Given the description of an element on the screen output the (x, y) to click on. 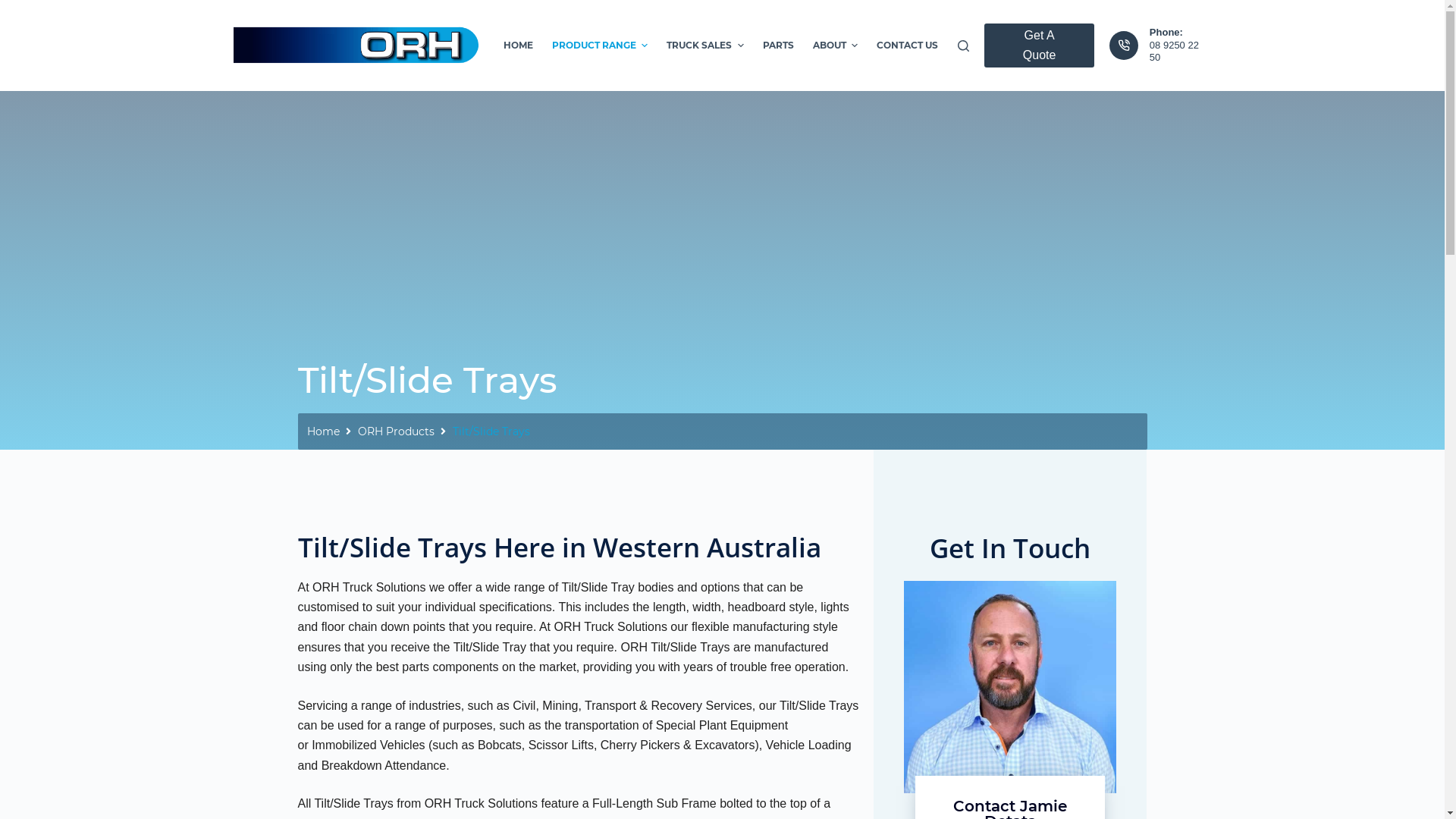
Get A Quote Element type: text (1039, 45)
HOME Element type: text (517, 45)
08 9250 22 50 Element type: text (1173, 51)
ABOUT Element type: text (834, 45)
ORH Products Element type: text (395, 431)
PRODUCT RANGE Element type: text (599, 45)
TRUCK SALES Element type: text (705, 45)
PARTS Element type: text (778, 45)
Skip to content Element type: text (15, 7)
Home Element type: text (322, 431)
CONTACT US Element type: text (906, 45)
